Given the description of an element on the screen output the (x, y) to click on. 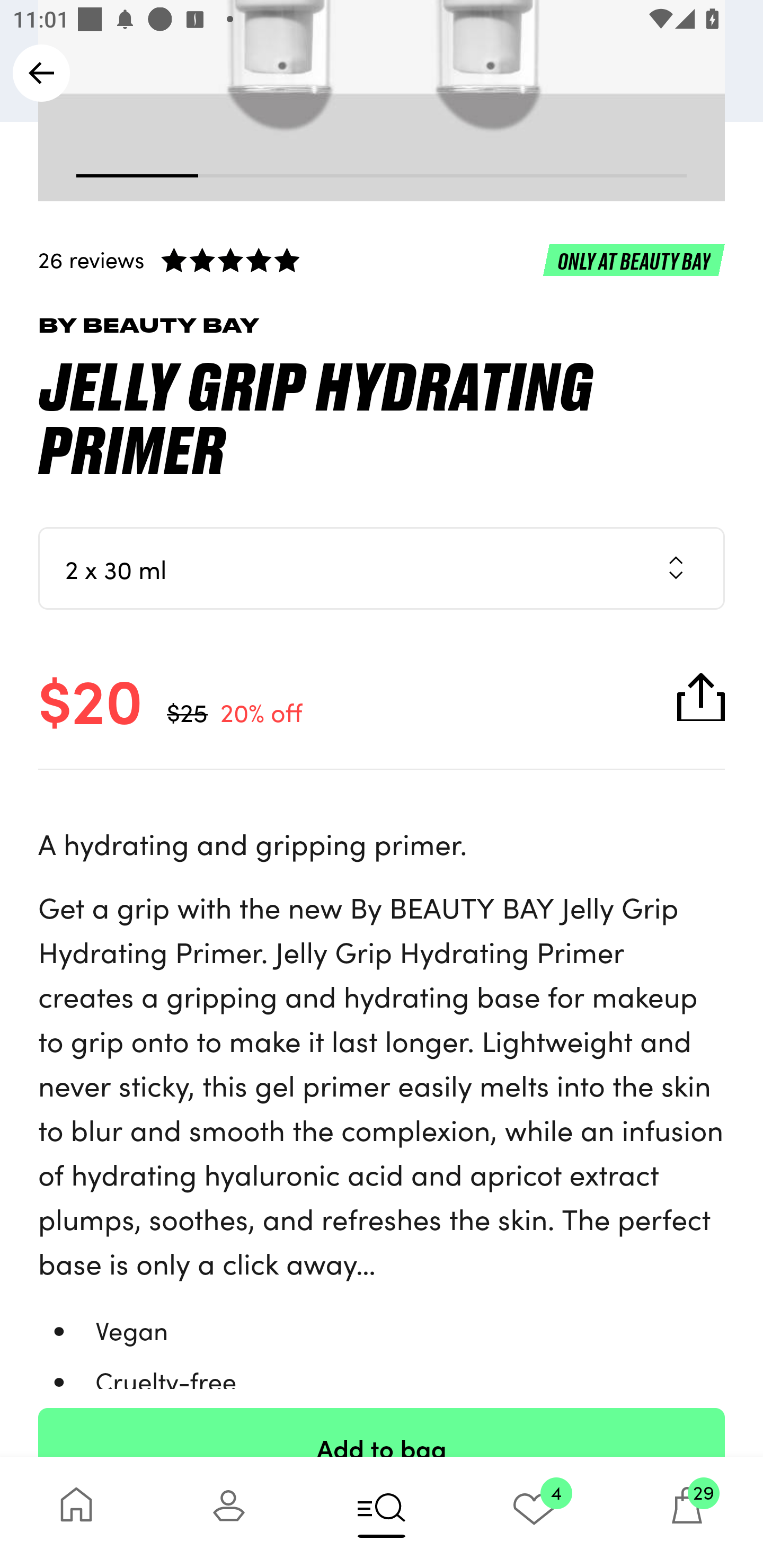
26 reviews (381, 259)
2 x 30 ml  (381, 567)
4 (533, 1512)
29 (686, 1512)
